Given the description of an element on the screen output the (x, y) to click on. 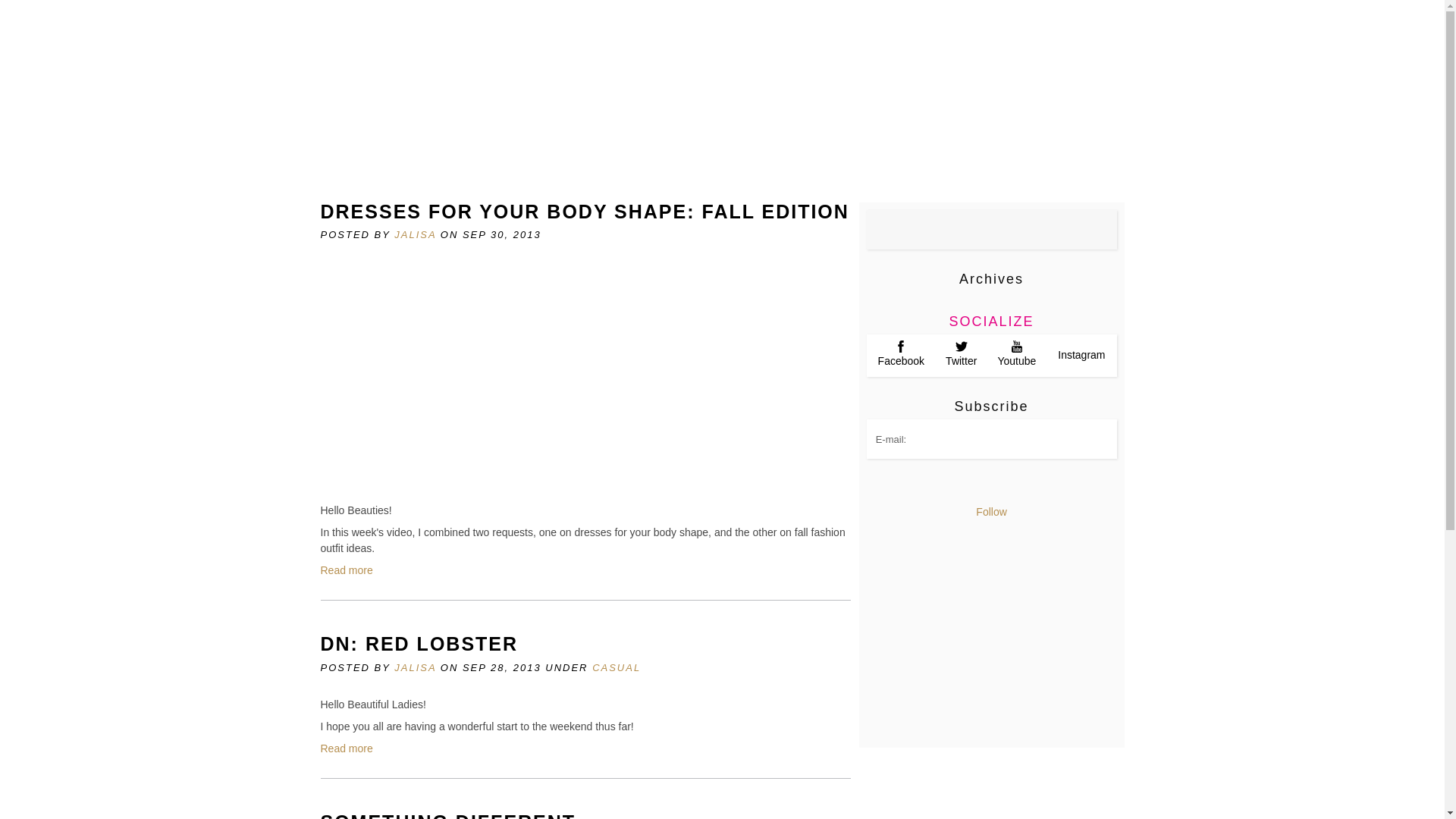
DN: RED LOBSTER (419, 643)
CONTACT (593, 88)
Read more (346, 570)
OUTFITS (734, 88)
VIDEOS (458, 119)
Read more (346, 748)
CASUAL (616, 667)
THE BEAUTY EDIT (900, 88)
Views posts by Category Casual (616, 667)
JALISA (414, 667)
